Given the description of an element on the screen output the (x, y) to click on. 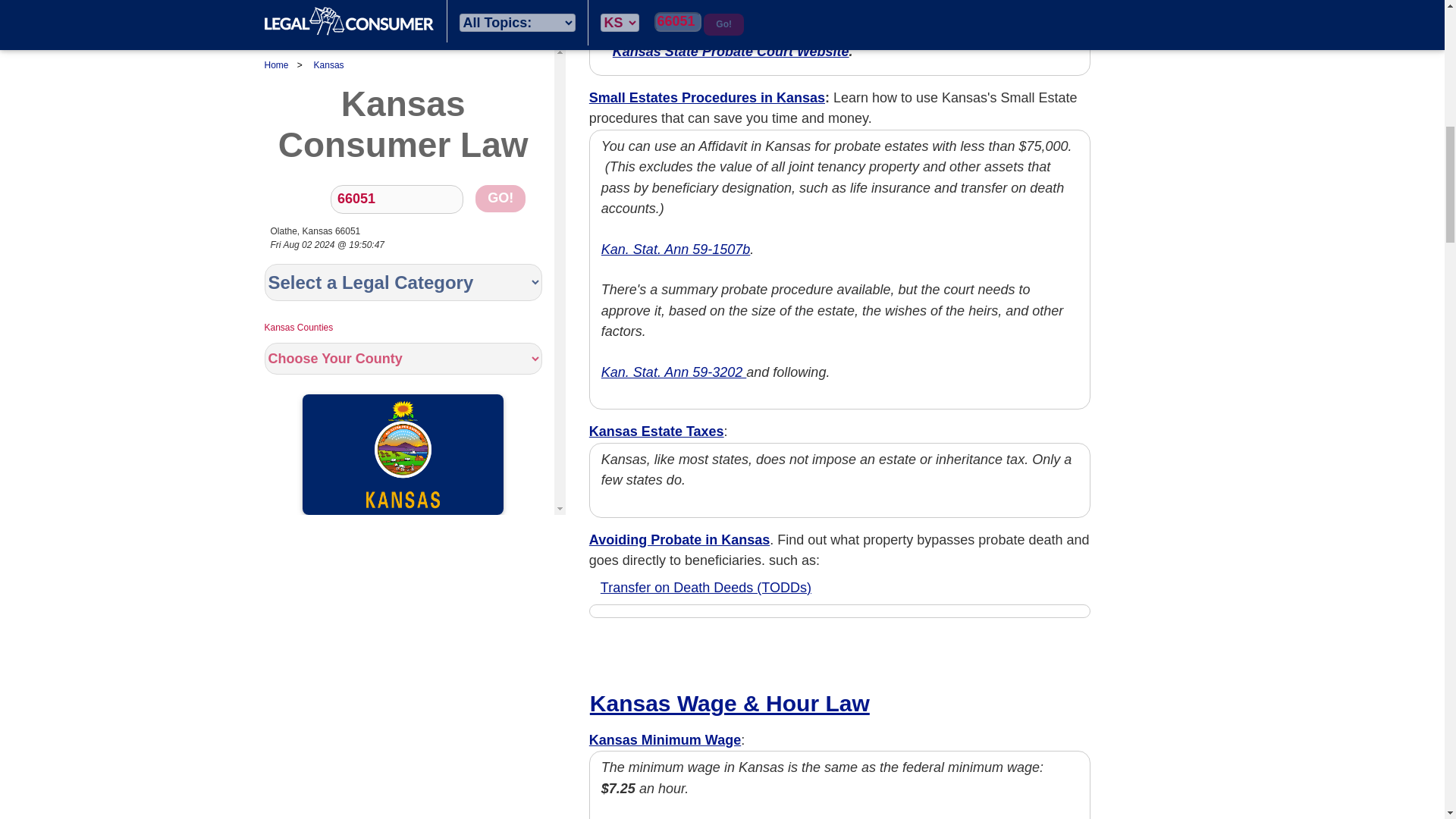
Kansas State Probate Court Website (730, 51)
Kan. Stat. Ann 59-3202 (673, 371)
Kansas Probate Forms (686, 17)
Kansas Minimum Wage (665, 739)
Avoiding Probate in Kansas (679, 539)
Kan. Stat. Ann 59-1507b (675, 248)
Kansas Estate Taxes (656, 431)
Small Estates Procedures in Kansas (707, 96)
